Given the description of an element on the screen output the (x, y) to click on. 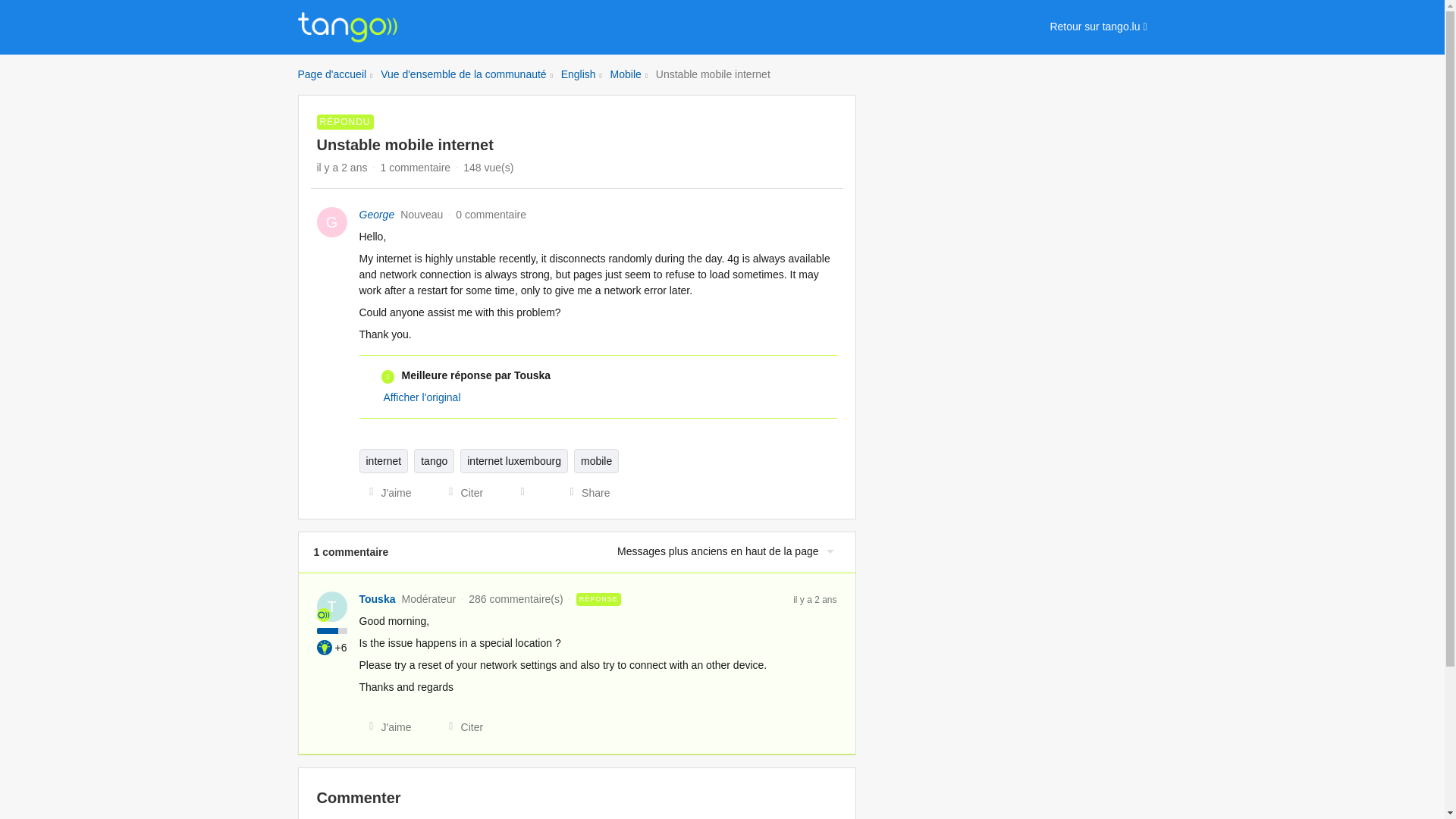
J'aime (385, 492)
internet luxembourg (513, 460)
mobile (595, 460)
Retour sur tango.lu (1098, 26)
Touska (377, 599)
J'aime (385, 726)
il y a 2 ans (814, 598)
tango (433, 460)
English (577, 74)
T (332, 606)
Page d'accueil (331, 74)
Afficher l'original (422, 397)
George (376, 214)
George (376, 214)
1 commentaire (415, 167)
